Given the description of an element on the screen output the (x, y) to click on. 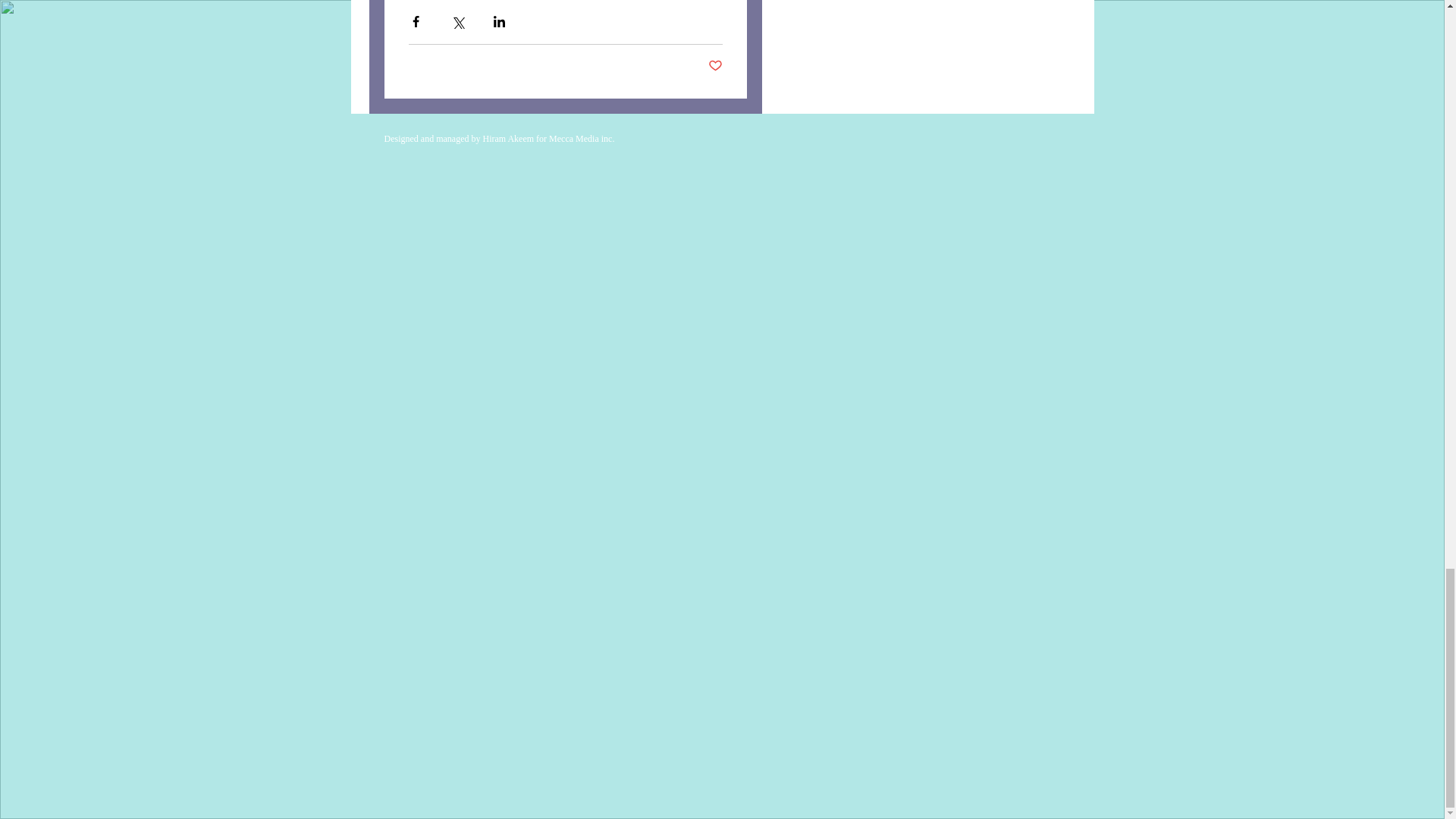
Post not marked as liked (714, 66)
